Given the description of an element on the screen output the (x, y) to click on. 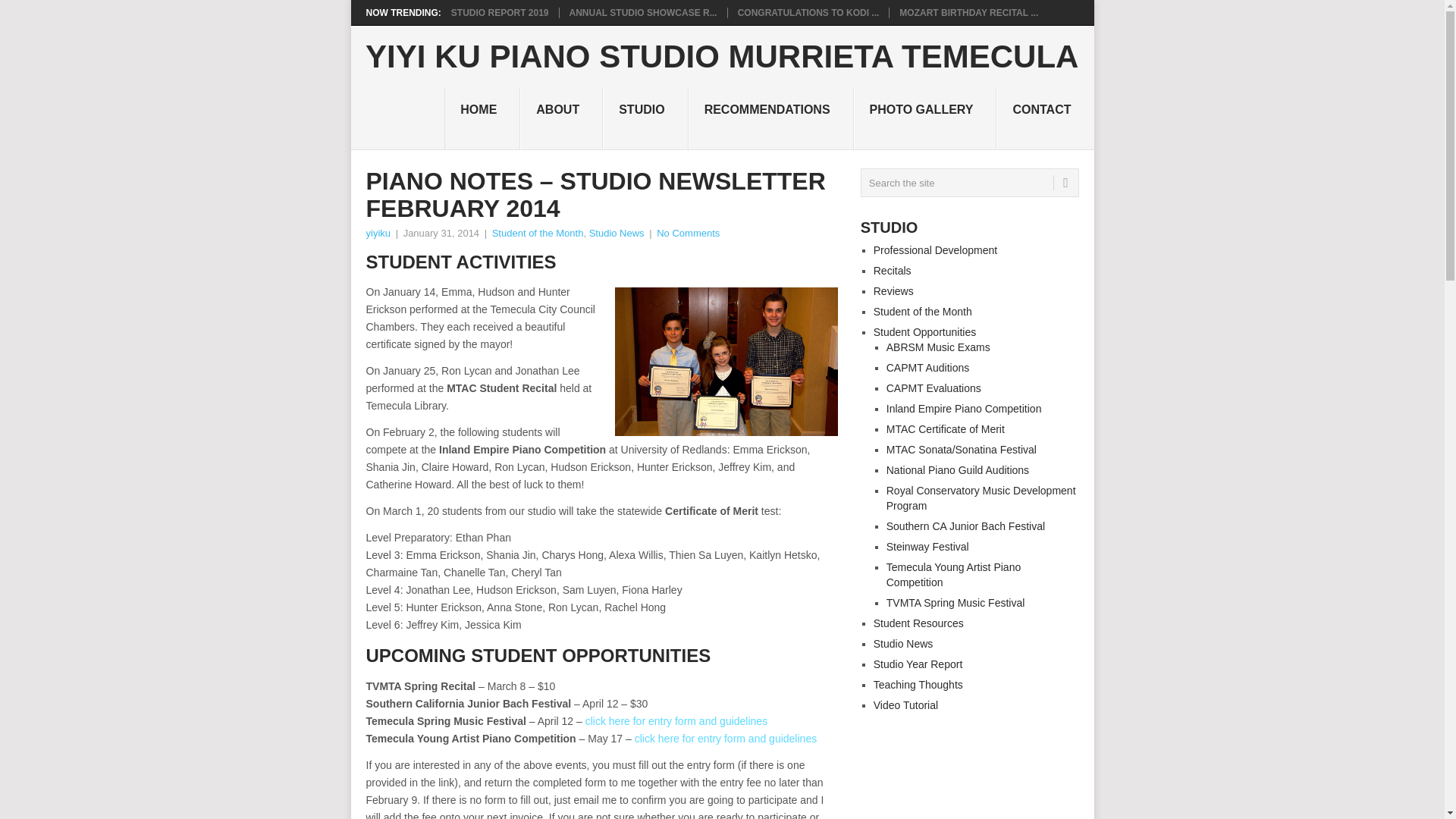
click here for entry form and guidelines (676, 720)
Posts by yiyiku (377, 233)
ANNUAL STUDIO SHOWCASE R... (643, 12)
Studio News (617, 233)
ABOUT (560, 118)
CAPMT Auditions (927, 367)
STUDIO REPORT 2019 (499, 12)
MOZART BIRTHDAY RECITAL ... (968, 12)
yiyiku (377, 233)
click here for entry form and guidelines (725, 738)
PHOTO GALLERY (925, 118)
CAPMT Evaluations (933, 387)
Recitals (892, 270)
Congratulations to Kodi Lee! (808, 12)
Annual Studio Showcase Recital 2019 (643, 12)
